Given the description of an element on the screen output the (x, y) to click on. 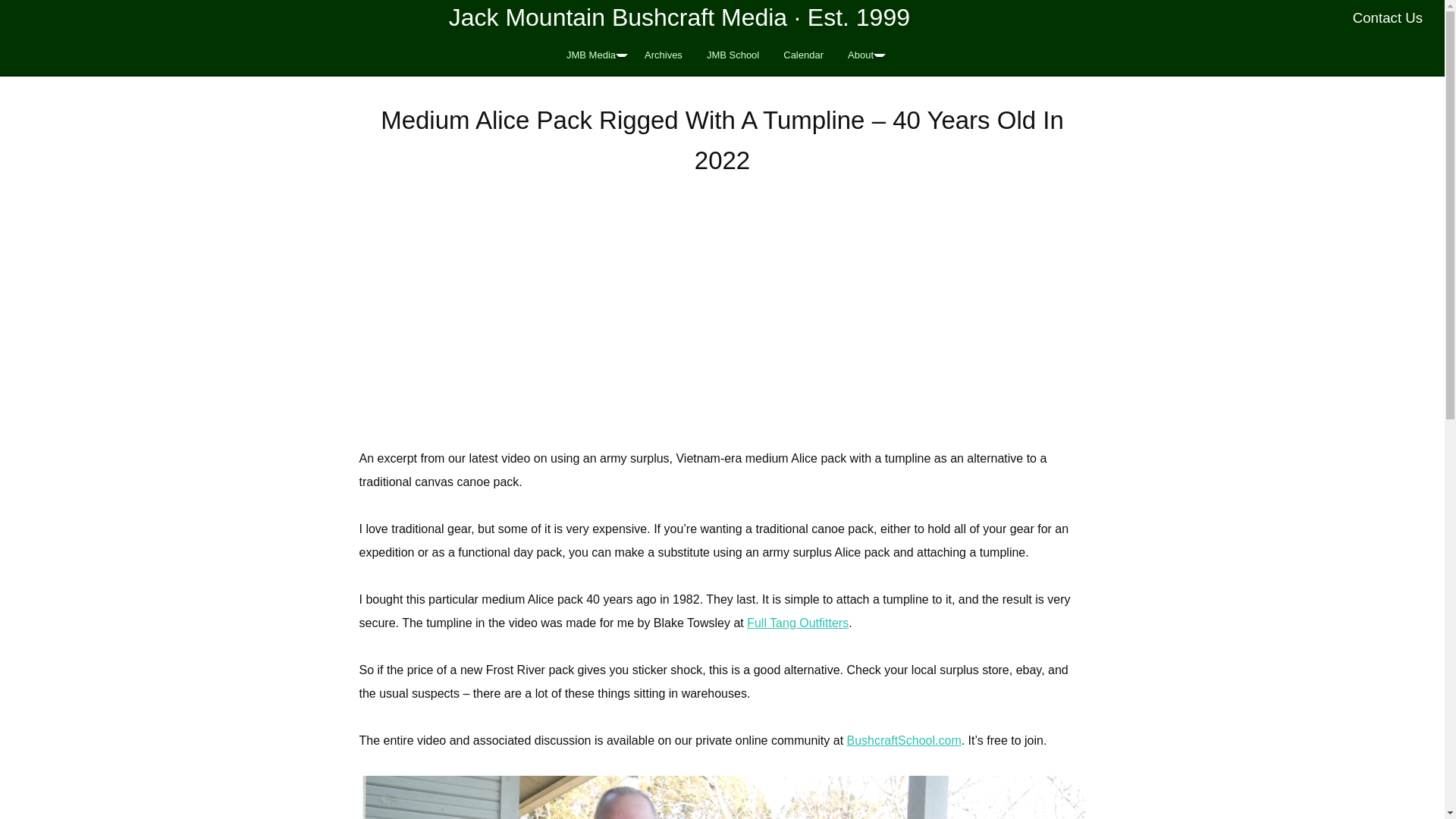
Calendar (803, 55)
Contact Us (1387, 17)
About (862, 55)
Archives (662, 55)
JMB School (732, 55)
JMB Media (592, 55)
